Given the description of an element on the screen output the (x, y) to click on. 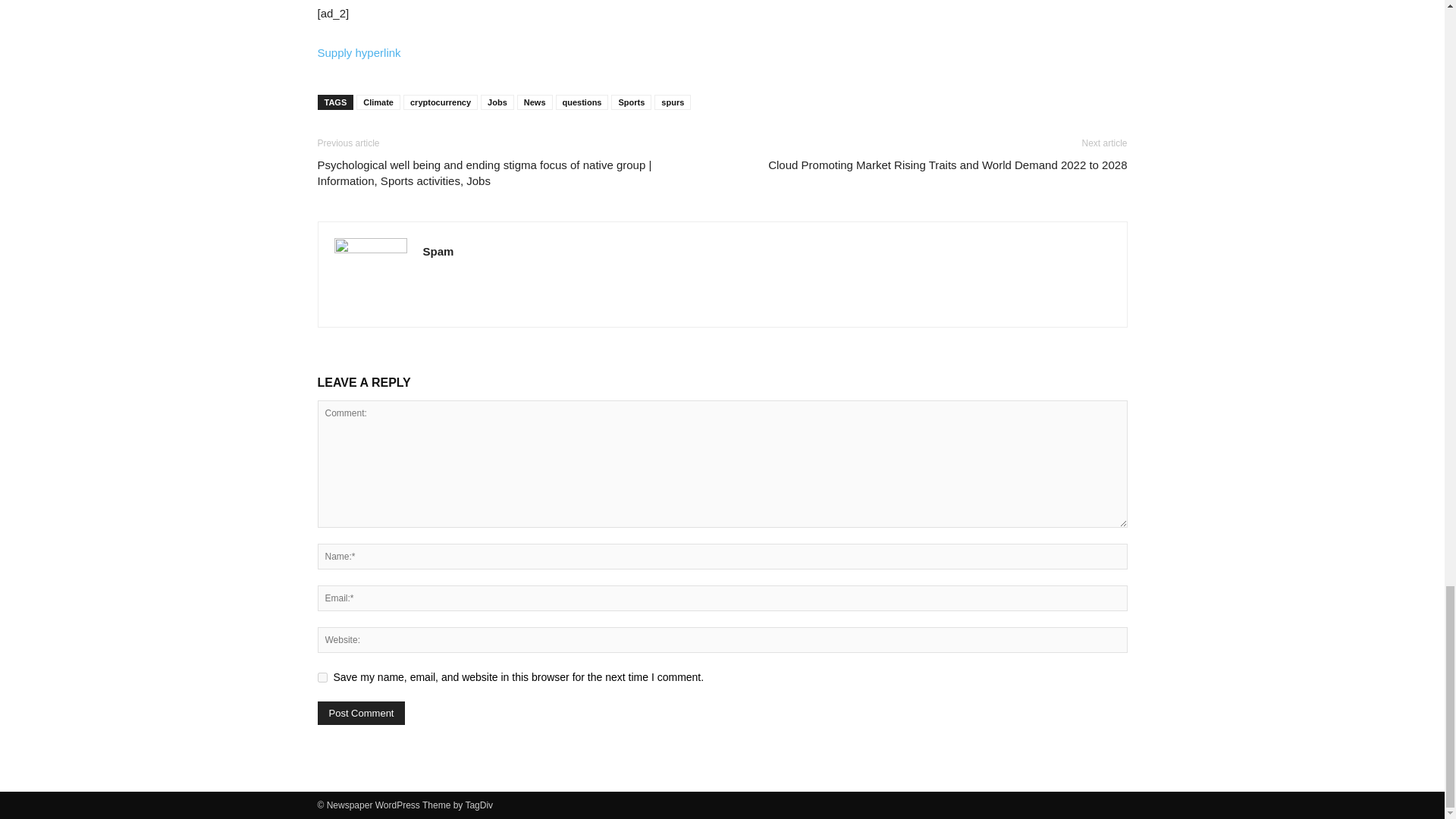
questions (582, 102)
cryptocurrency (440, 102)
spurs (671, 102)
Post Comment (360, 712)
yes (321, 677)
News (534, 102)
Climate (378, 102)
Post Comment (360, 712)
Sports (630, 102)
Jobs (496, 102)
Spam (438, 250)
Supply hyperlink (358, 51)
